Given the description of an element on the screen output the (x, y) to click on. 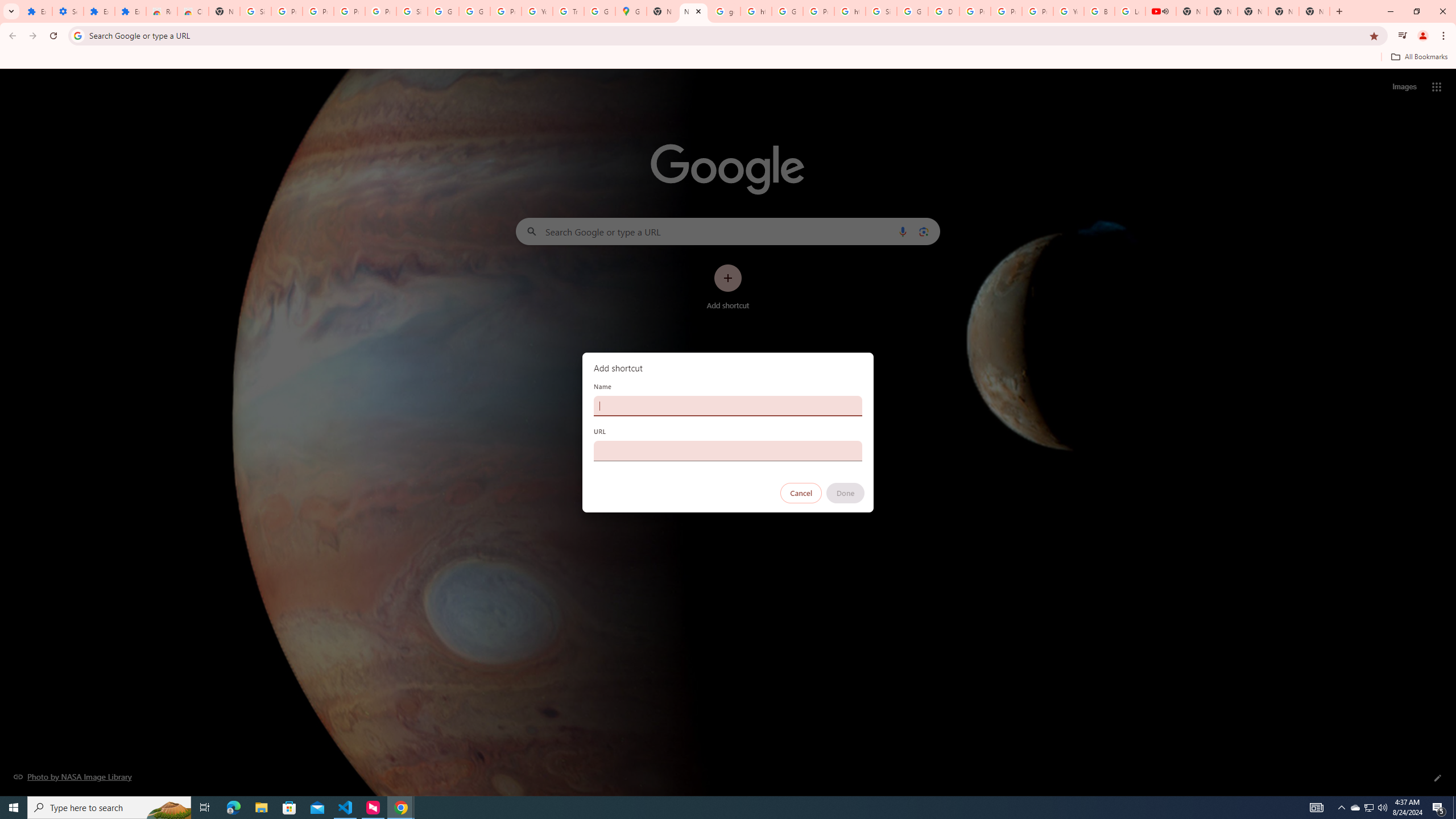
Cancel (801, 493)
Sign in - Google Accounts (255, 11)
Extensions (36, 11)
